Given the description of an element on the screen output the (x, y) to click on. 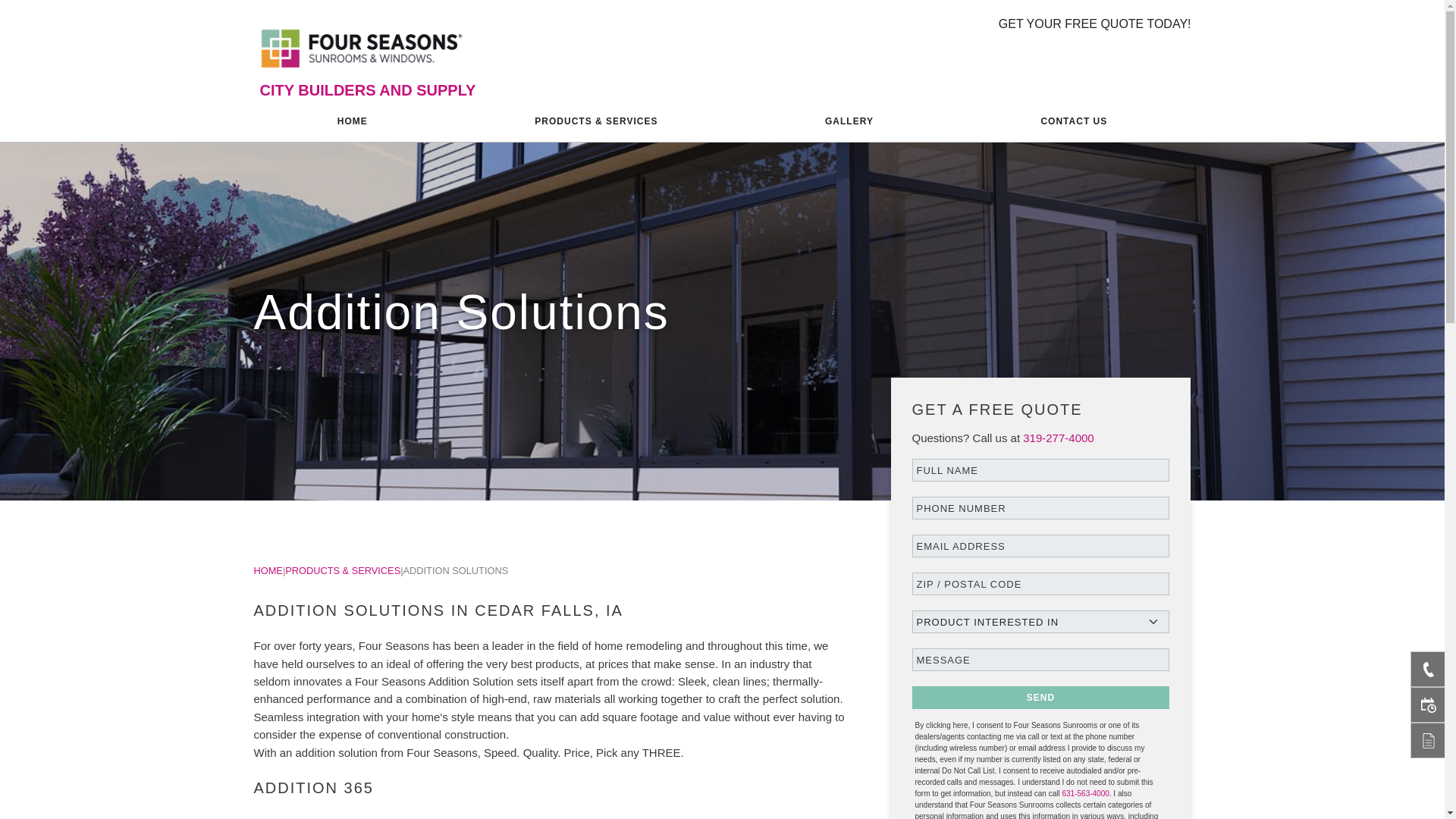
SEND (1040, 697)
CONTACT US (1073, 121)
HOME (267, 570)
phone (1040, 507)
319-277-4000 (1058, 437)
CITY BUILDERS AND SUPPLY (367, 89)
HOME (352, 121)
email (1040, 545)
GALLERY (848, 121)
631-563-4000 (1084, 793)
